Given the description of an element on the screen output the (x, y) to click on. 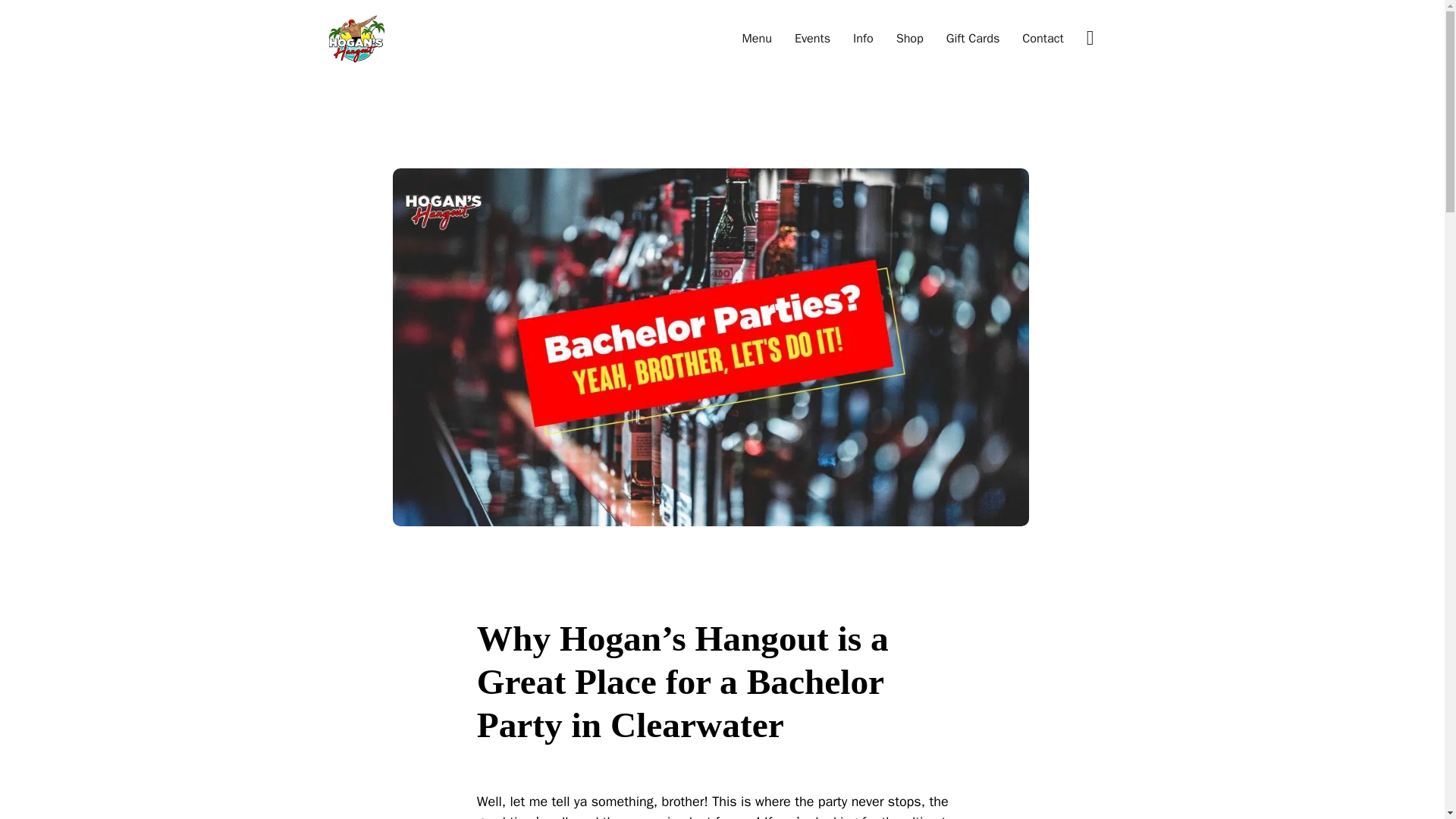
Events (811, 38)
Shop (909, 38)
Info (863, 38)
Gift Cards (972, 38)
Menu (756, 38)
Contact (1042, 38)
